Given the description of an element on the screen output the (x, y) to click on. 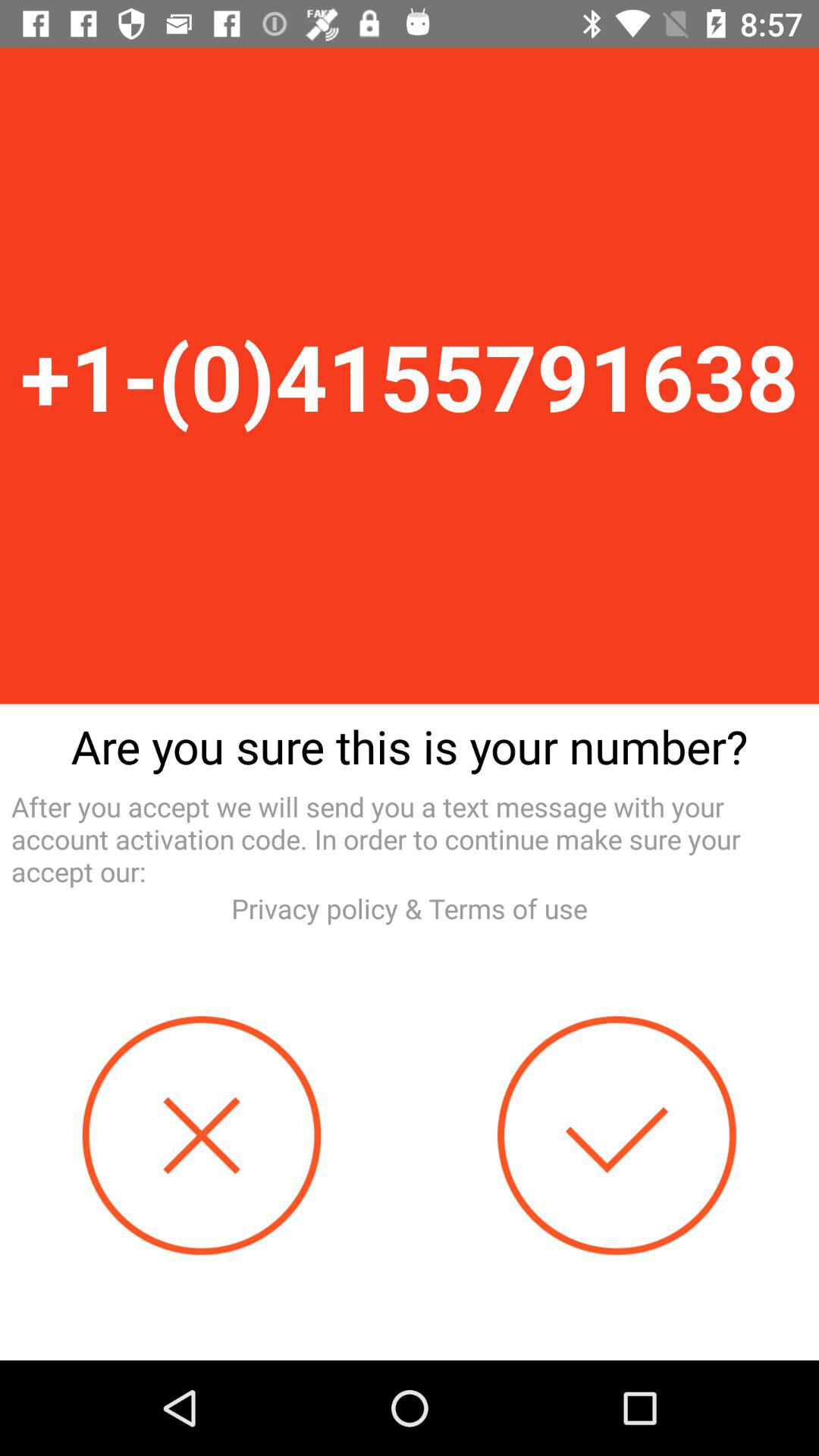
launch icon below privacy policy terms (616, 1135)
